Given the description of an element on the screen output the (x, y) to click on. 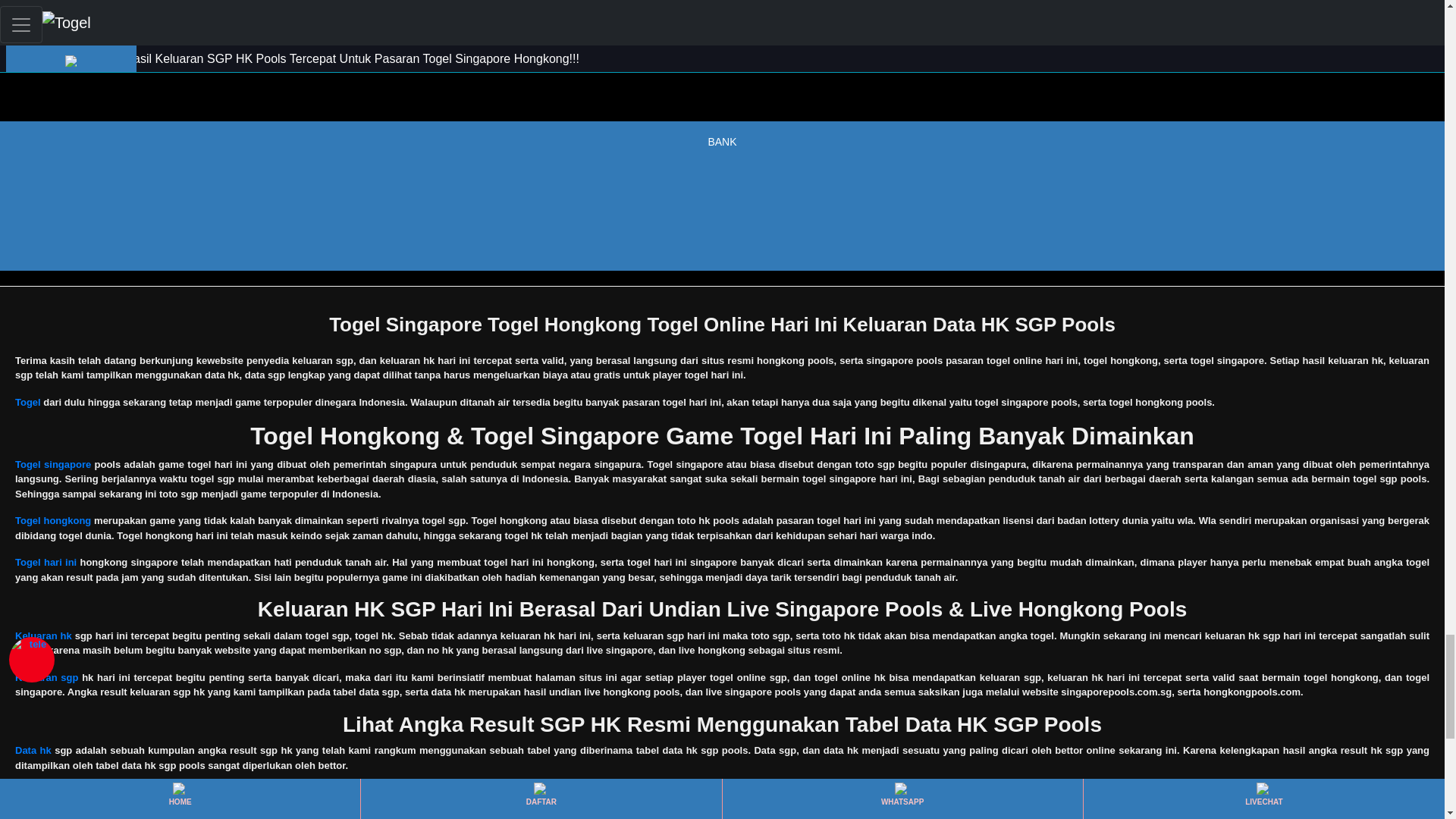
Keluaran sgp (46, 677)
Keluaran hk (42, 635)
Data sgp (35, 791)
Togel hari ini (45, 562)
Togel singapore (52, 464)
Togel hongkong (52, 520)
Data hk (32, 749)
Togel (27, 401)
